Given the description of an element on the screen output the (x, y) to click on. 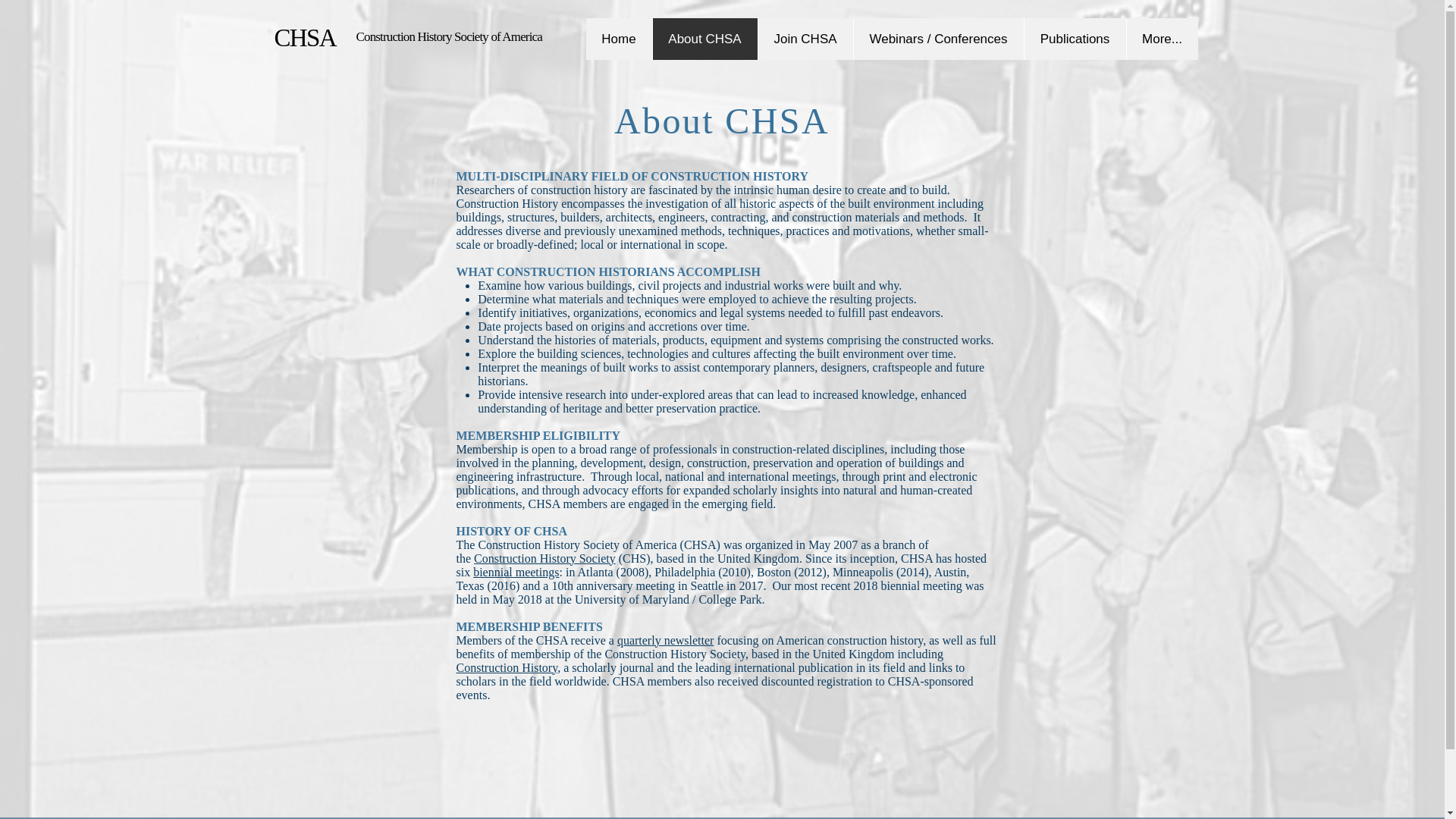
Home (617, 38)
About CHSA (727, 38)
About CHSA (704, 38)
Join CHSA (809, 38)
Home (655, 38)
